Given the description of an element on the screen output the (x, y) to click on. 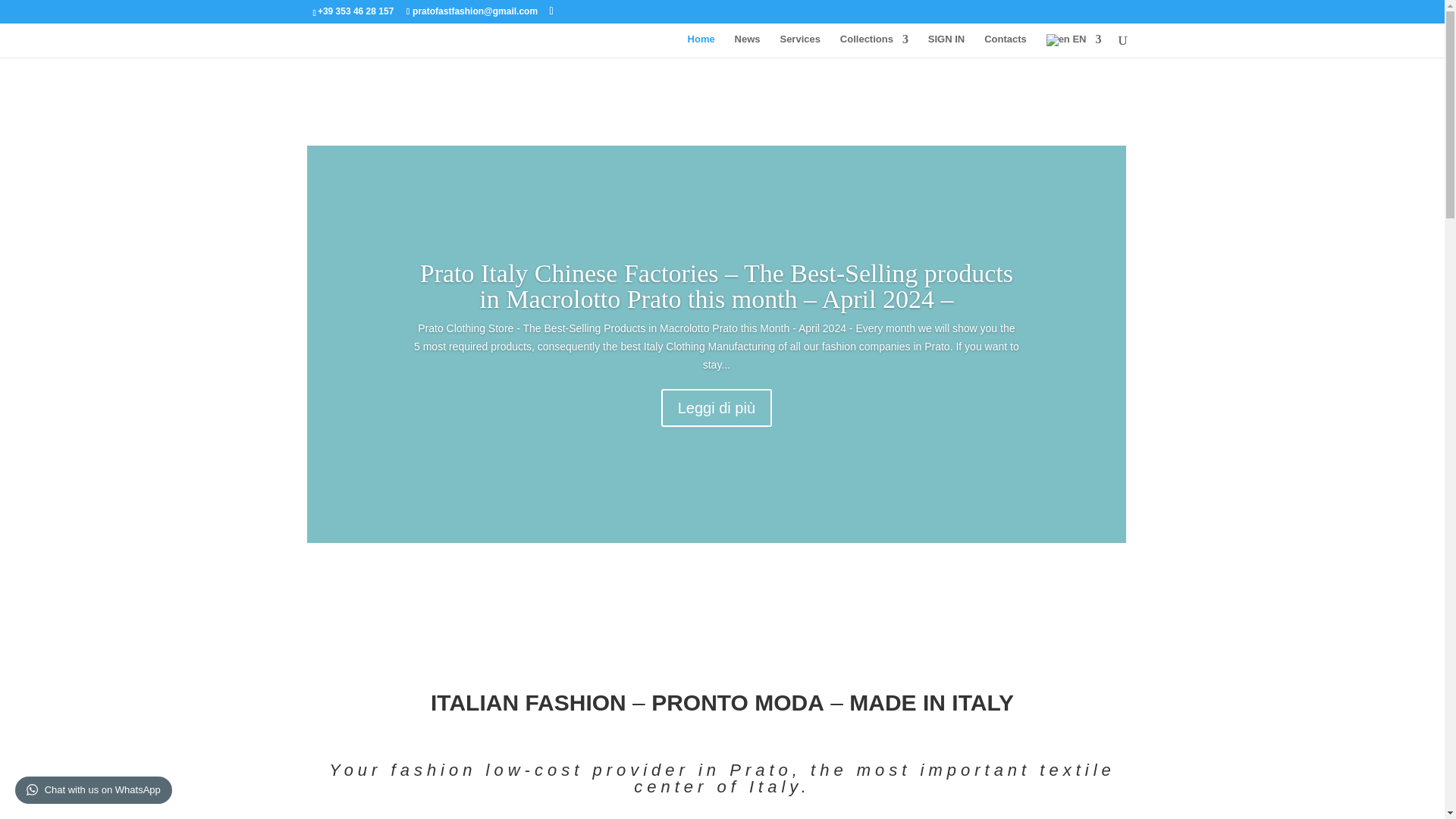
EN (1074, 45)
Services (799, 45)
Collections (874, 45)
Home (700, 45)
SIGN IN (945, 45)
Contacts (1005, 45)
News (747, 45)
